Given the description of an element on the screen output the (x, y) to click on. 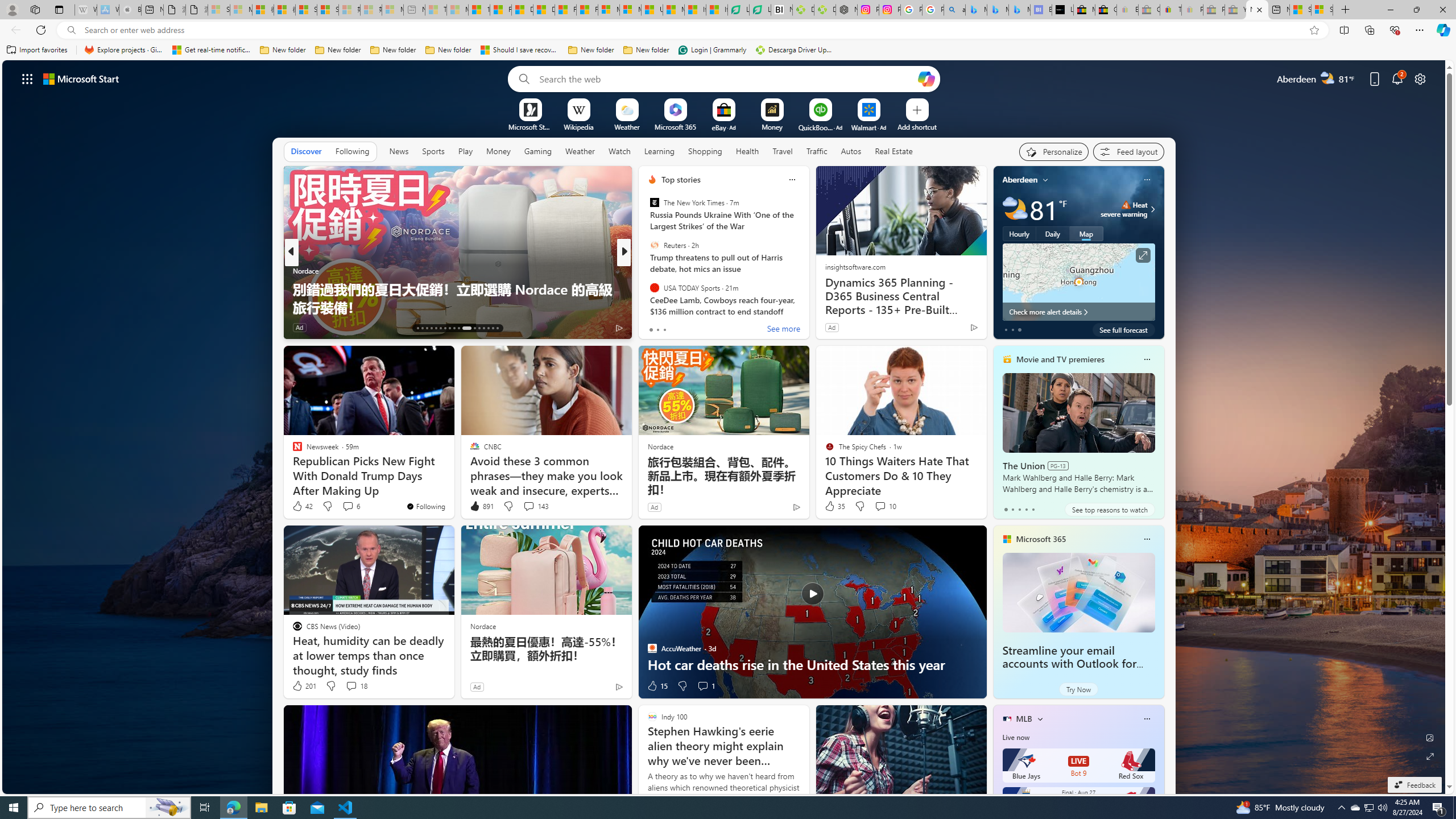
Class: icon-img (1146, 718)
Favorites bar (728, 49)
Weather (580, 151)
Real Estate (893, 151)
AutomationID: tab-16 (431, 328)
Blue Jays LIVE Bot 9 Red Sox (1077, 765)
My location (1045, 179)
tab-0 (1005, 509)
Heat - Severe (1126, 204)
View comments 143 Comment (528, 505)
